Given the description of an element on the screen output the (x, y) to click on. 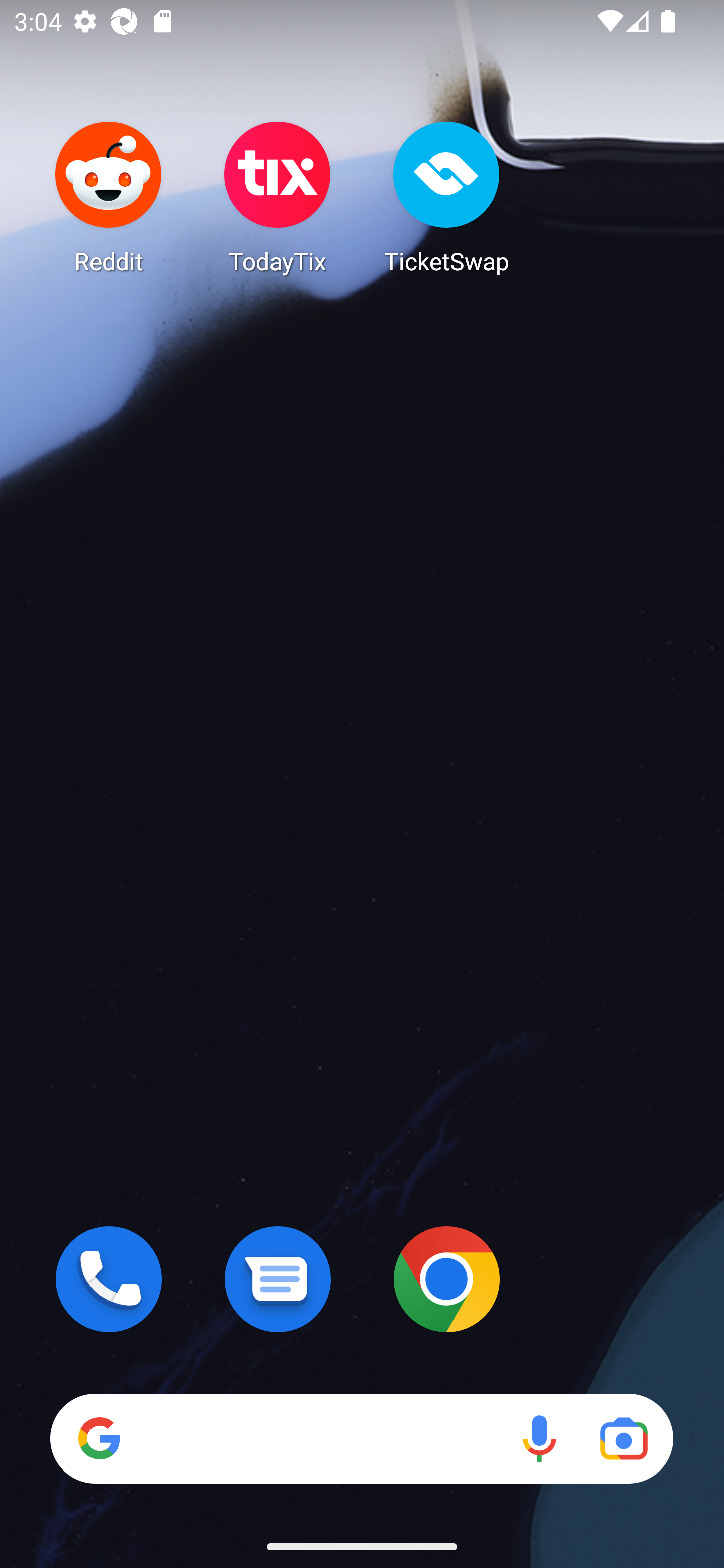
Reddit (108, 196)
TodayTix (277, 196)
TicketSwap (445, 196)
Phone (108, 1279)
Messages (277, 1279)
Chrome (446, 1279)
Voice search (539, 1438)
Google Lens (623, 1438)
